Given the description of an element on the screen output the (x, y) to click on. 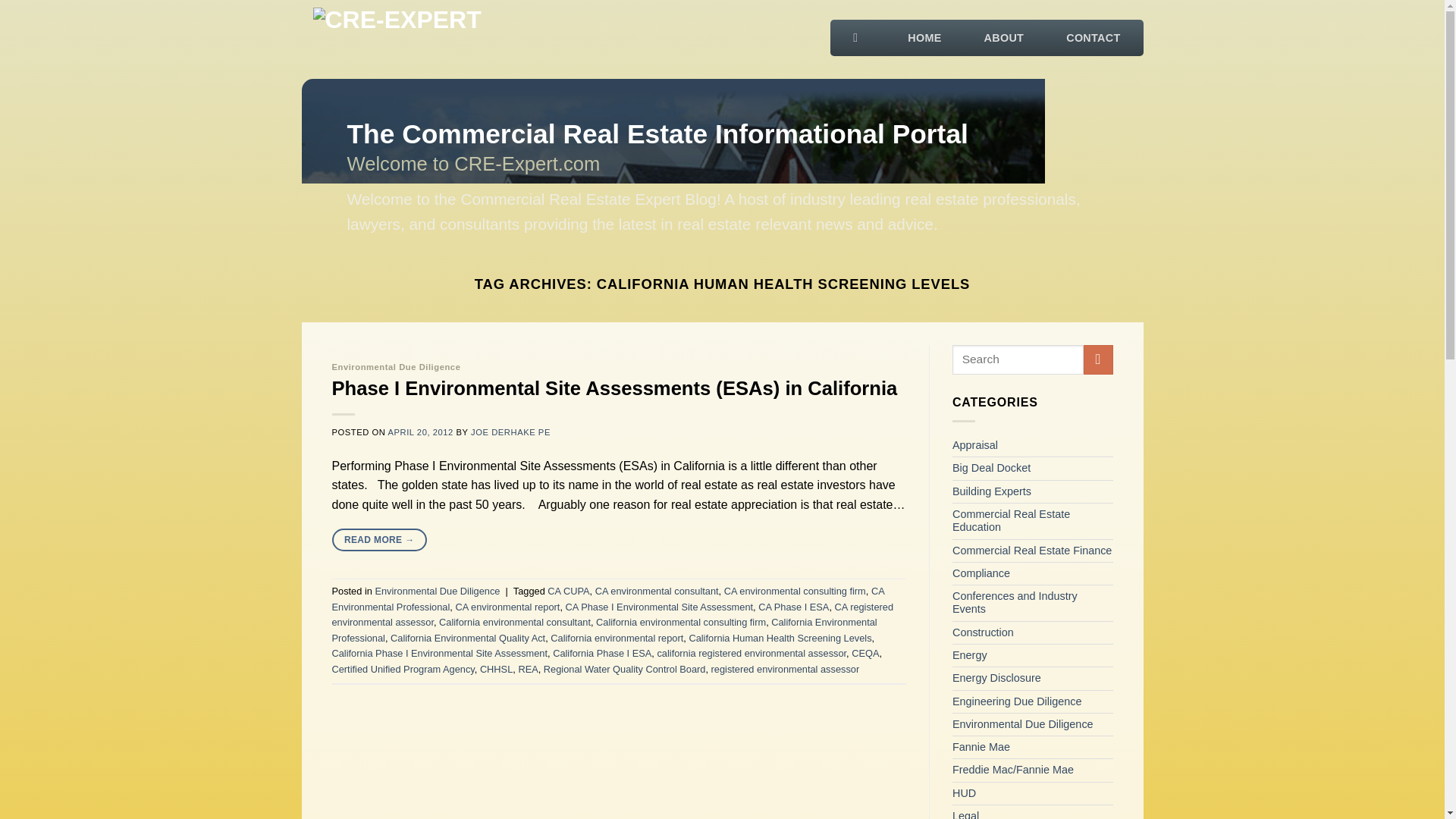
California Phase I ESA (601, 653)
JOE DERHAKE PE (510, 431)
California environmental consulting firm (680, 622)
Environmental Due Diligence (396, 366)
CEQA (865, 653)
Environmental Due Diligence (436, 591)
HOME (924, 33)
REA (527, 668)
California Environmental Professional (604, 629)
Appraisal (974, 445)
